Given the description of an element on the screen output the (x, y) to click on. 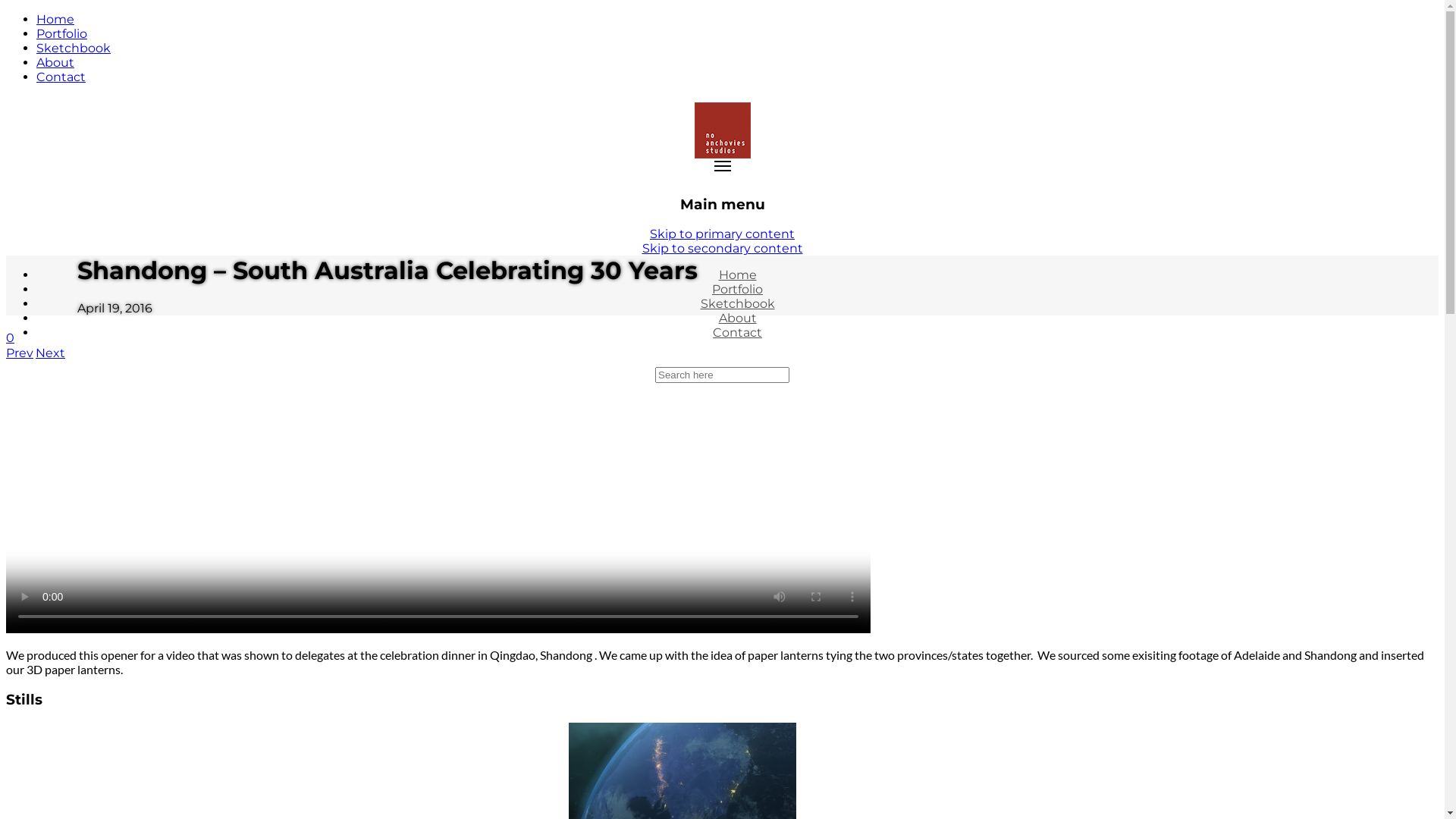
Skip to secondary content Element type: text (721, 248)
No Anchovies Studios Element type: hover (722, 159)
About Element type: text (55, 62)
Sketchbook Element type: text (737, 303)
Portfolio Element type: text (61, 33)
Contact Element type: text (737, 332)
0 Element type: text (10, 337)
Skip to primary content Element type: text (721, 233)
Home Element type: text (55, 19)
Contact Element type: text (60, 76)
Home Element type: text (737, 274)
Prev Element type: text (19, 352)
Next Element type: text (50, 352)
Sketchbook Element type: text (73, 47)
Portfolio Element type: text (737, 289)
About Element type: text (737, 317)
